Given the description of an element on the screen output the (x, y) to click on. 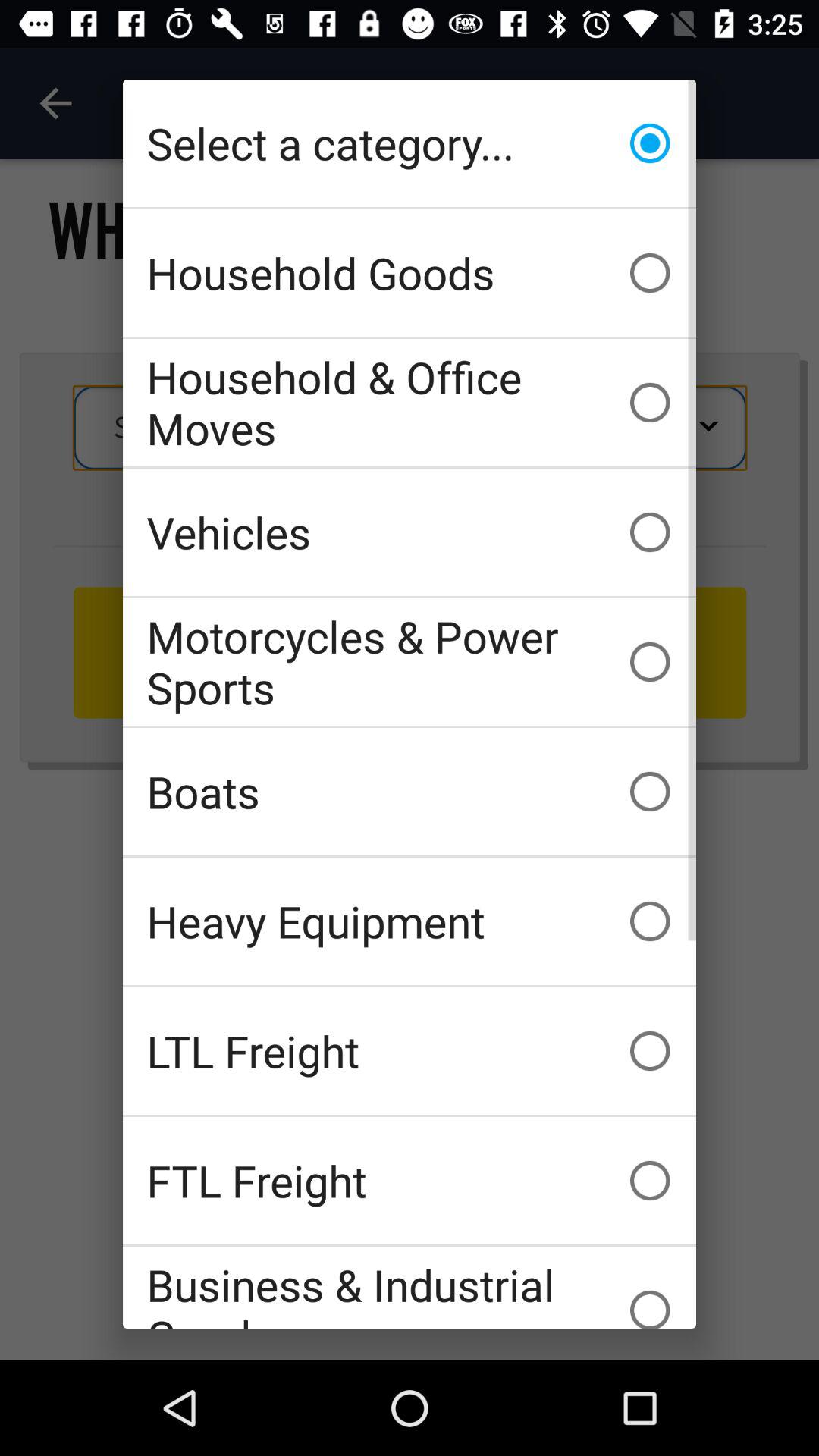
click icon below ltl freight icon (409, 1180)
